Given the description of an element on the screen output the (x, y) to click on. 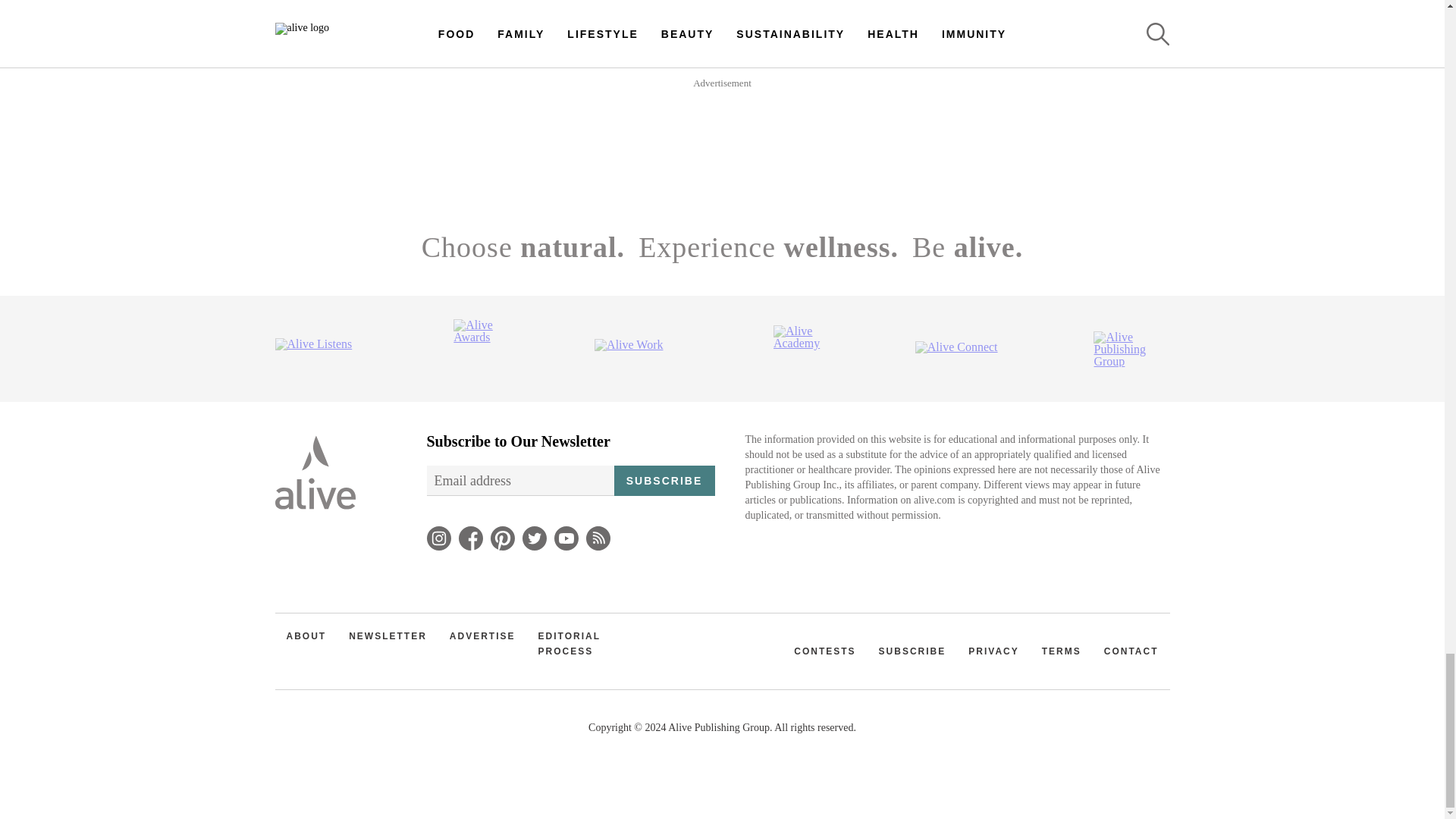
LIFESTYLE (541, 5)
FAMILY (984, 5)
SUBSCRIBE (664, 481)
FAMILY (1062, 75)
HEALTH (835, 75)
